Given the description of an element on the screen output the (x, y) to click on. 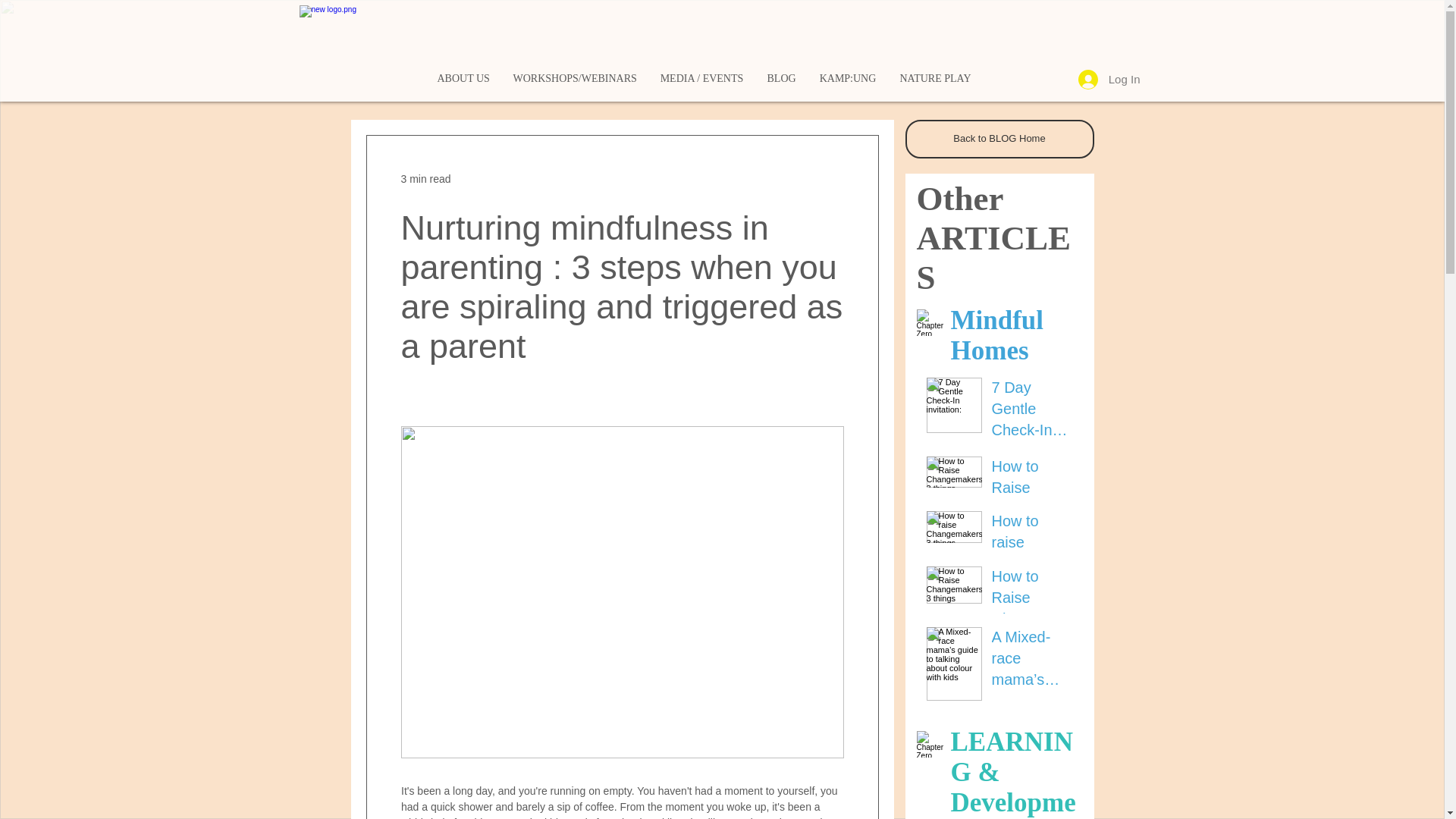
3 min read (424, 178)
NATURE PLAY (933, 78)
7 Day Gentle Check-In invitation: (1032, 411)
BLOG (781, 78)
Log In (1109, 79)
Back to BLOG Home (999, 138)
KAMP:UNG (846, 78)
